Given the description of an element on the screen output the (x, y) to click on. 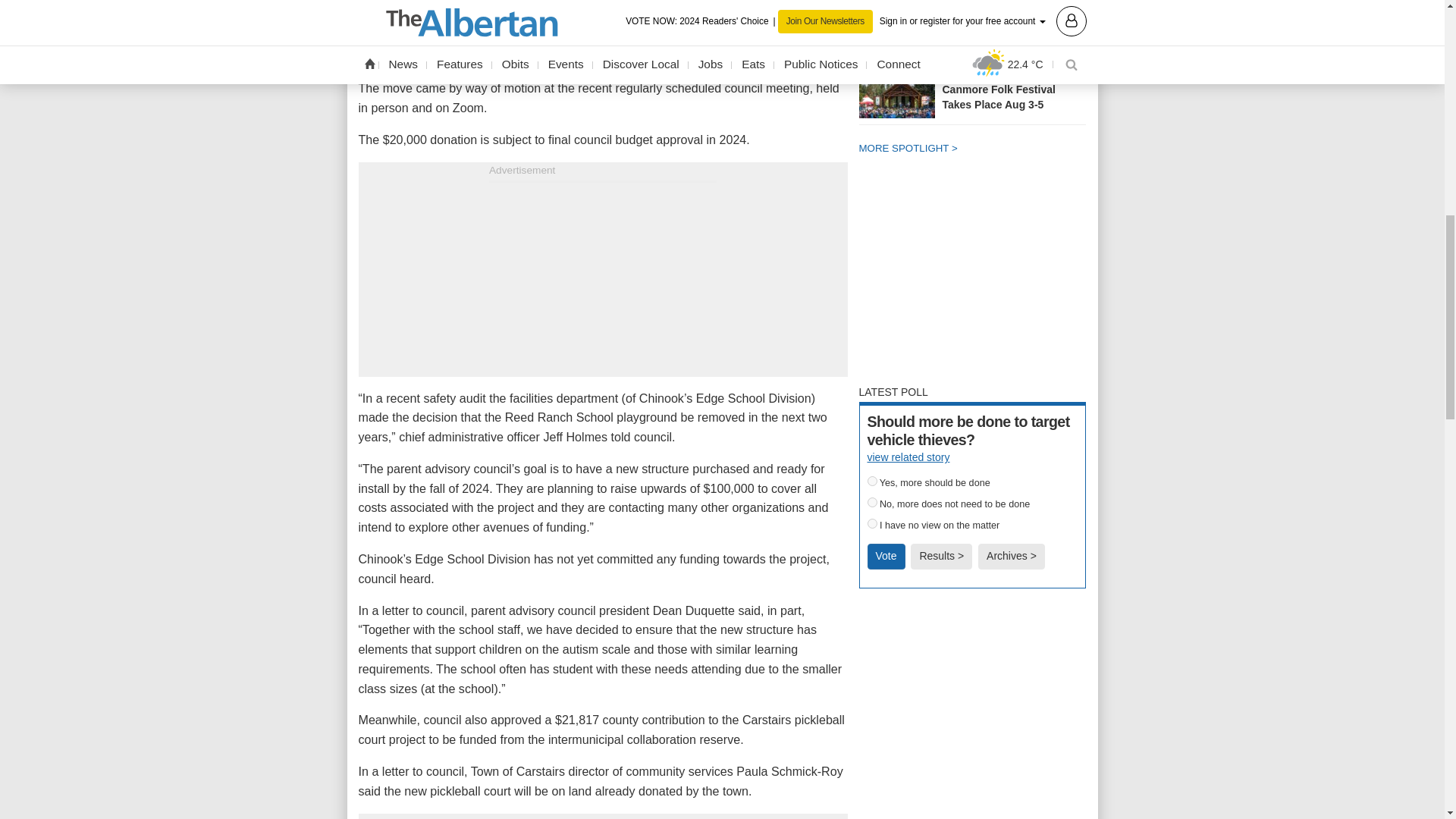
3rd party ad content (972, 813)
Has a gallery (1032, 41)
3rd party ad content (972, 276)
123218 (872, 480)
123220 (872, 523)
123219 (872, 501)
3rd party ad content (972, 698)
3rd party ad content (602, 276)
